Given the description of an element on the screen output the (x, y) to click on. 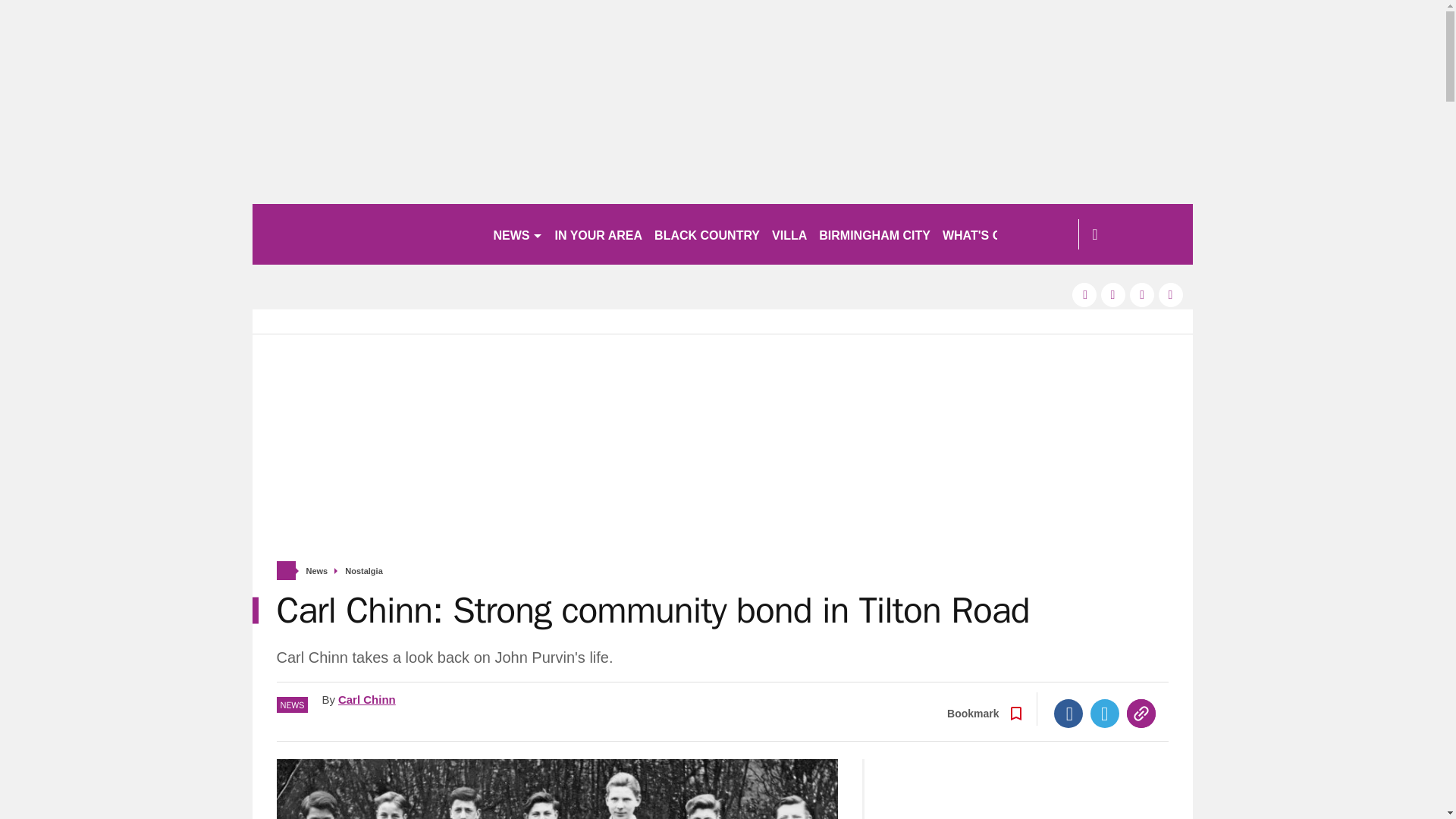
Facebook (1068, 713)
IN YOUR AREA (598, 233)
tiktok (1141, 294)
BIRMINGHAM CITY (874, 233)
instagram (1170, 294)
facebook (1083, 294)
Twitter (1104, 713)
NEWS (517, 233)
birminghammail (365, 233)
BLACK COUNTRY (706, 233)
